Given the description of an element on the screen output the (x, y) to click on. 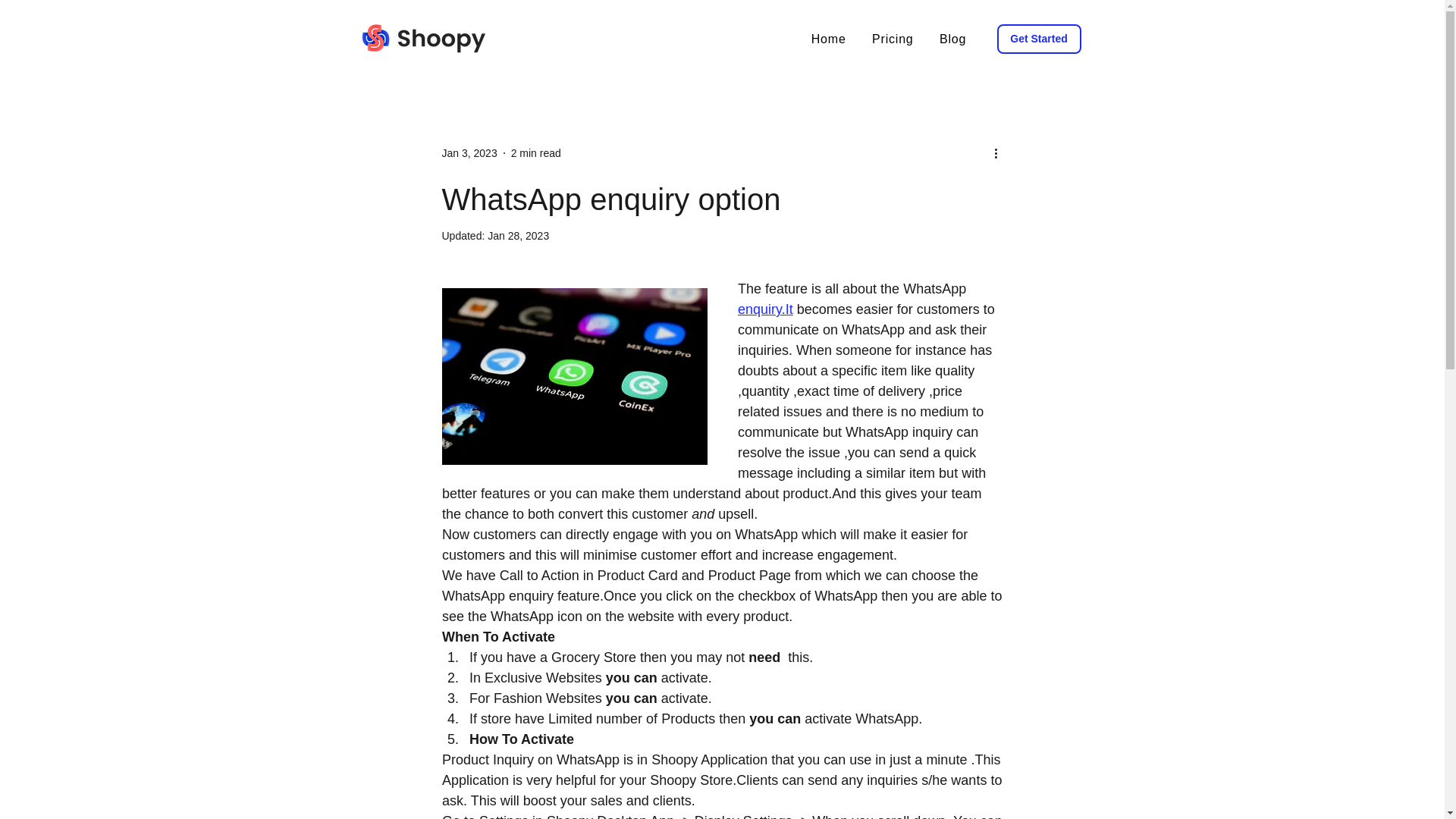
Pricing (892, 39)
Jan 3, 2023 (468, 152)
Get Started (1037, 39)
enquiry.It (764, 309)
Jan 28, 2023 (517, 235)
Shoopy Logo (421, 38)
Home (828, 39)
Blog (953, 39)
2 min read (535, 152)
